Given the description of an element on the screen output the (x, y) to click on. 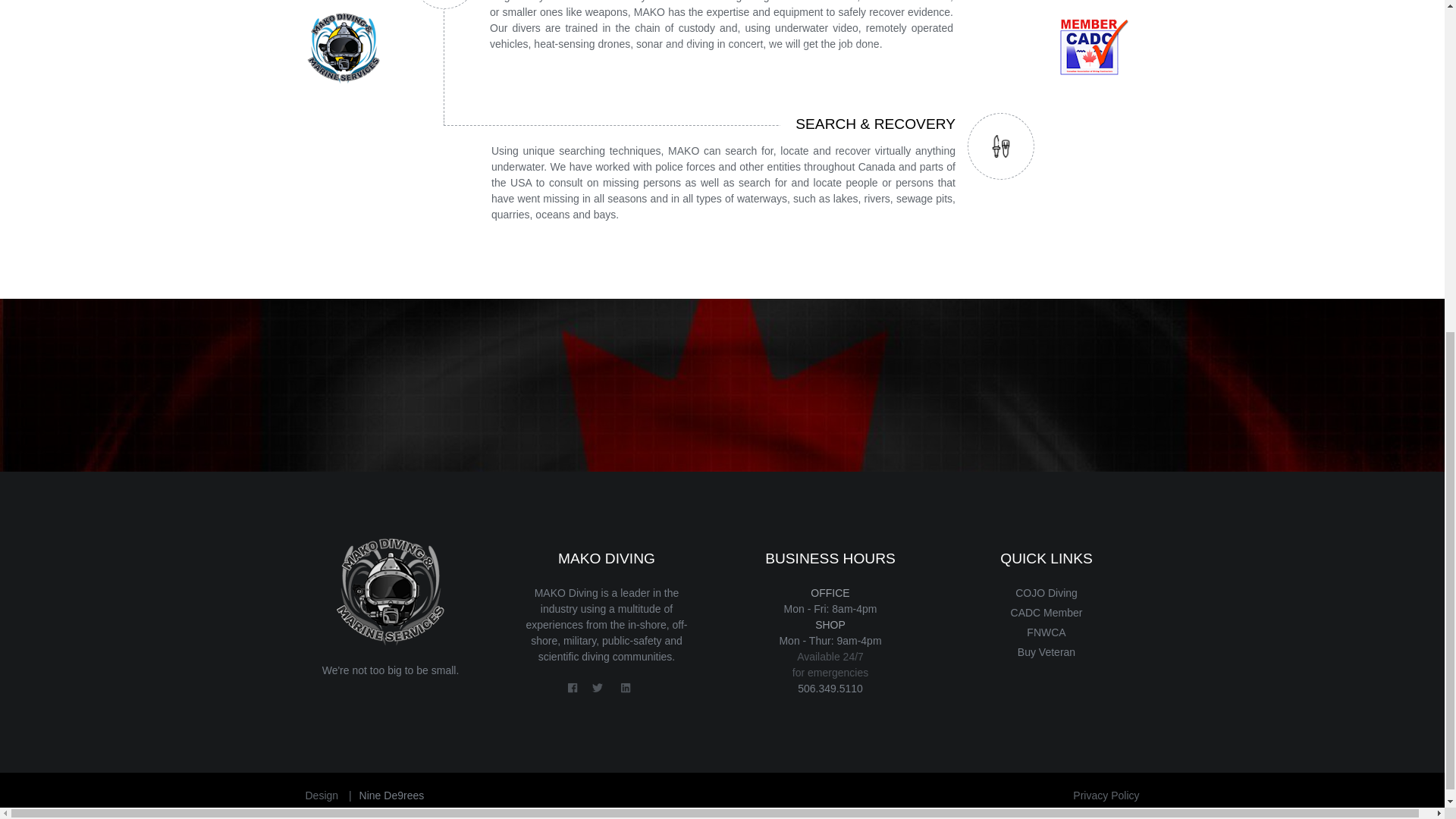
FNWCA (1045, 632)
COJO Diving (1045, 592)
CADC Member (1046, 612)
Buy Veteran (1046, 652)
Nine De9rees (392, 795)
Privacy Policy (1105, 795)
